Given the description of an element on the screen output the (x, y) to click on. 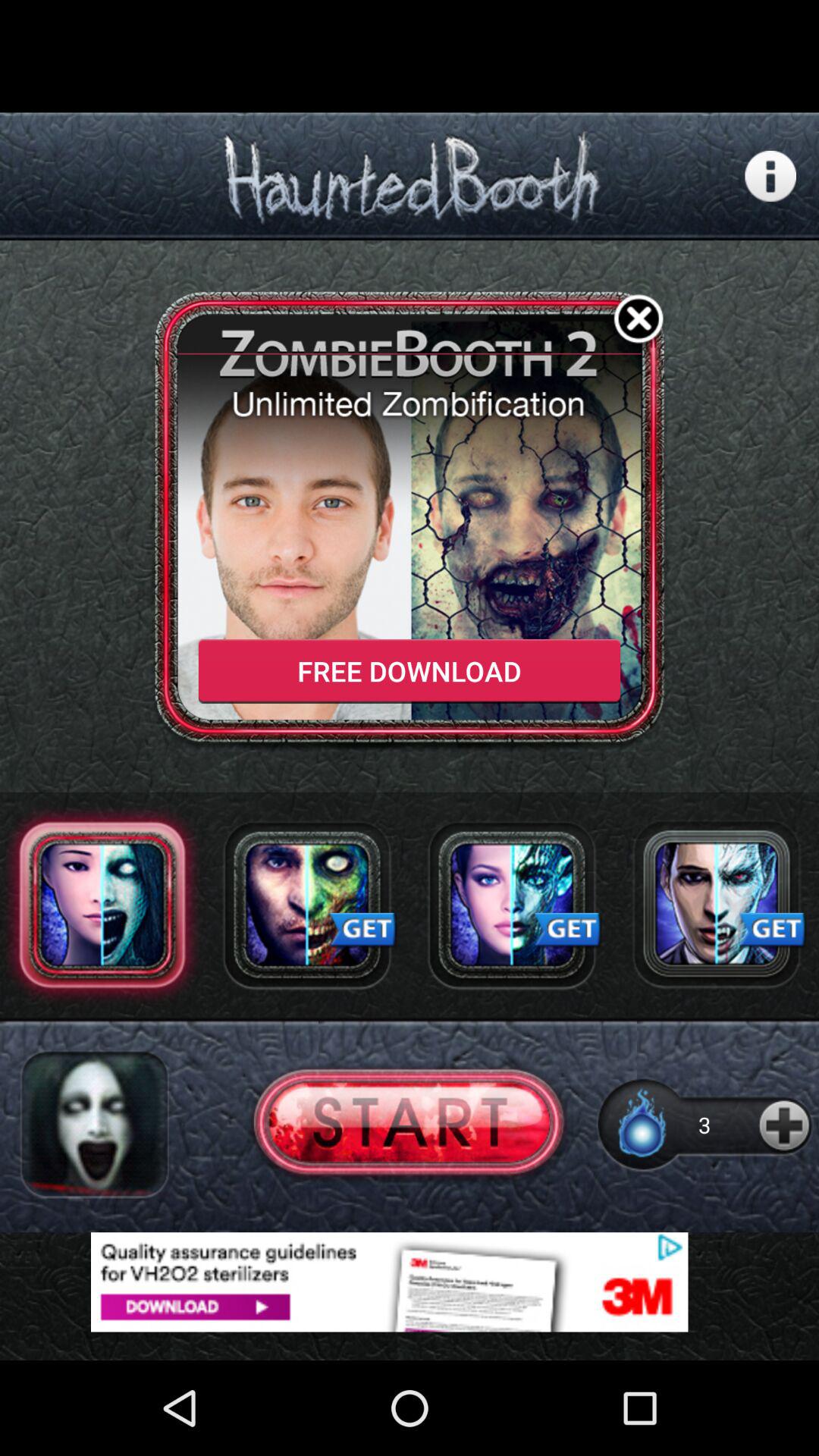
open face (306, 904)
